Given the description of an element on the screen output the (x, y) to click on. 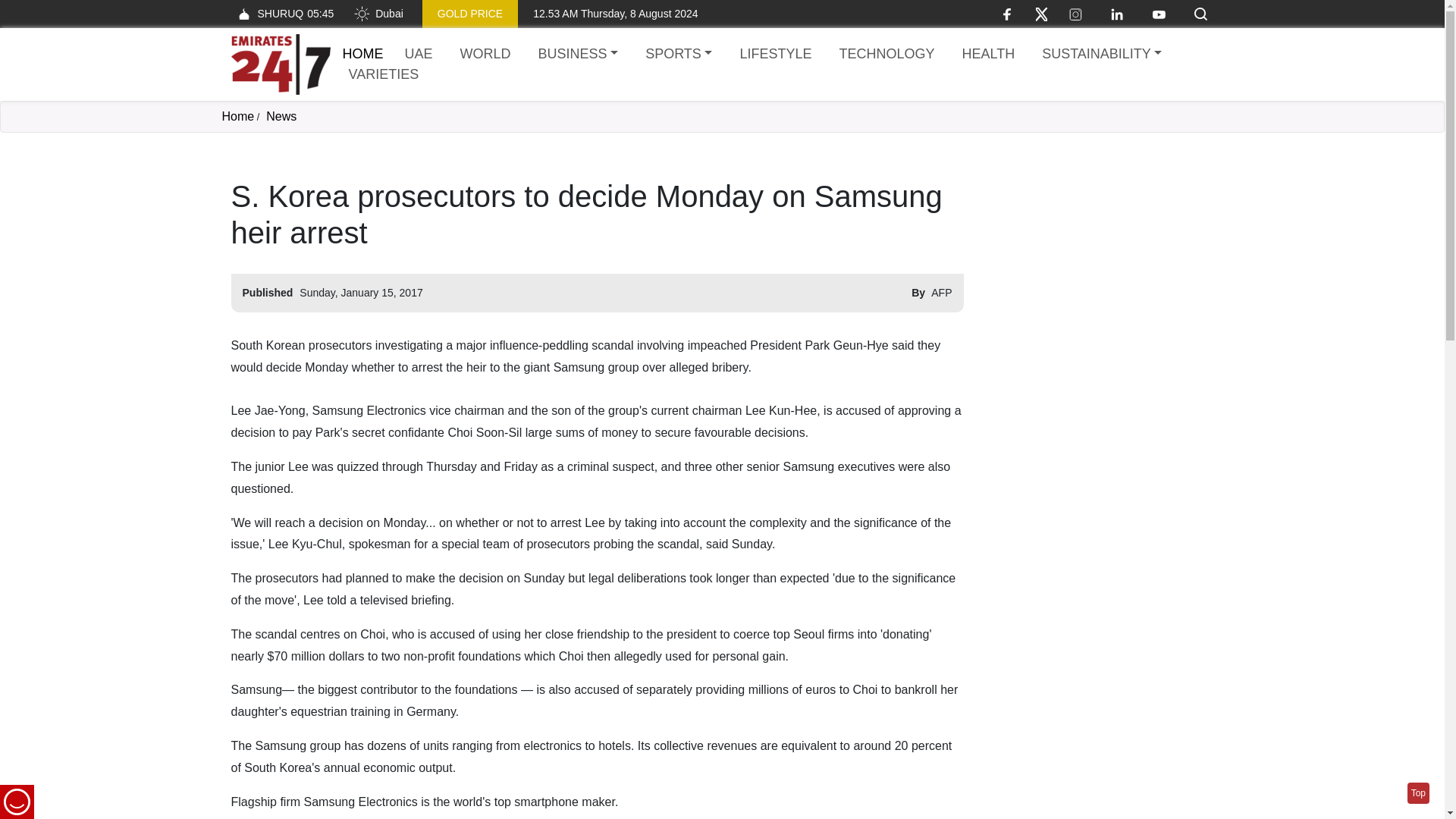
UAE (418, 54)
HOME (363, 53)
HEALTH (987, 54)
SPORTS (678, 54)
VARIETIES (383, 74)
Dubai (378, 13)
Home (281, 13)
SUSTAINABILITY (237, 115)
News (1101, 54)
